Given the description of an element on the screen output the (x, y) to click on. 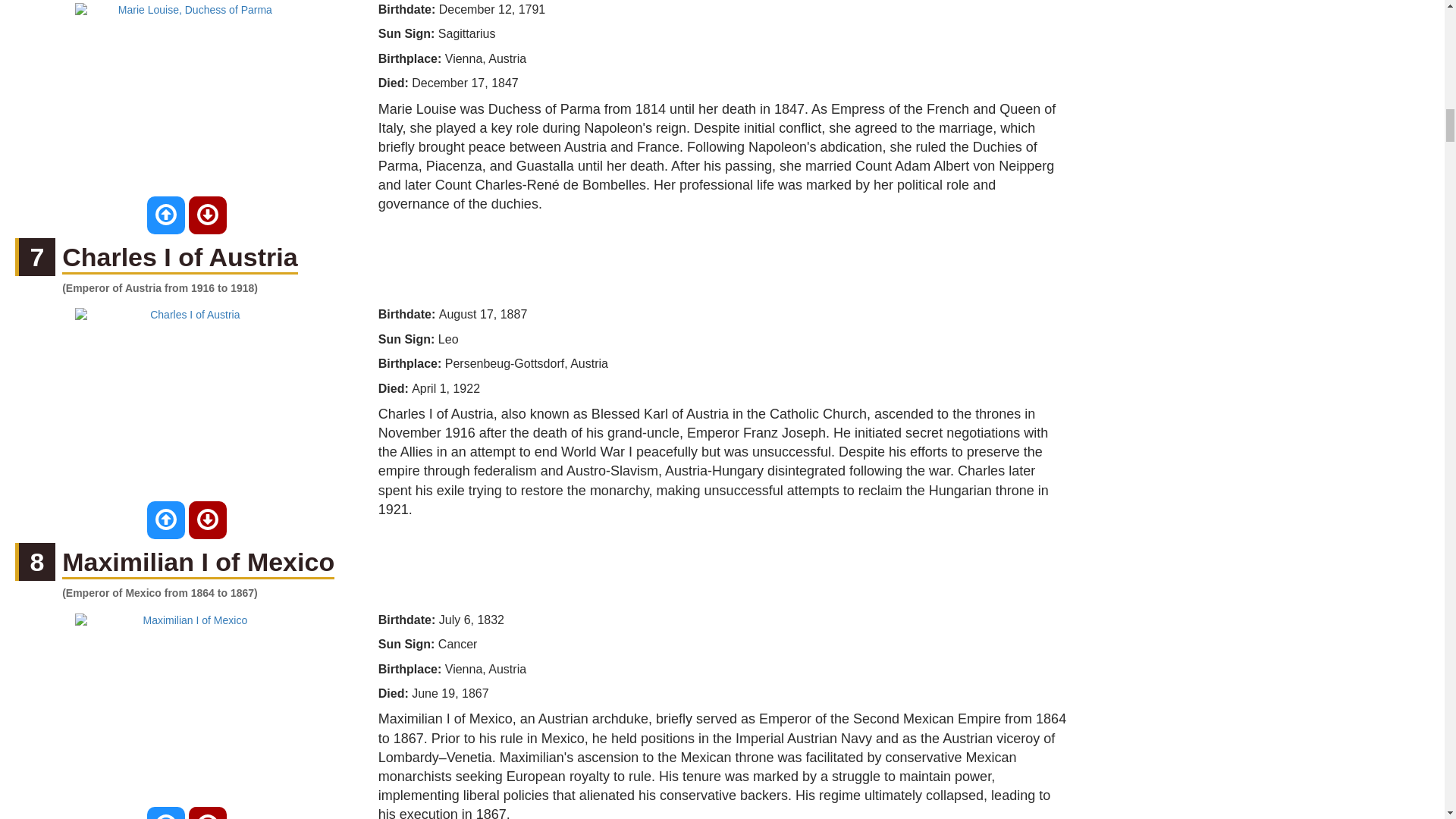
Charles I of Austria (179, 257)
Maximilian I of Mexico (198, 563)
Marie Louise, Duchess of Parma (188, 97)
